Given the description of an element on the screen output the (x, y) to click on. 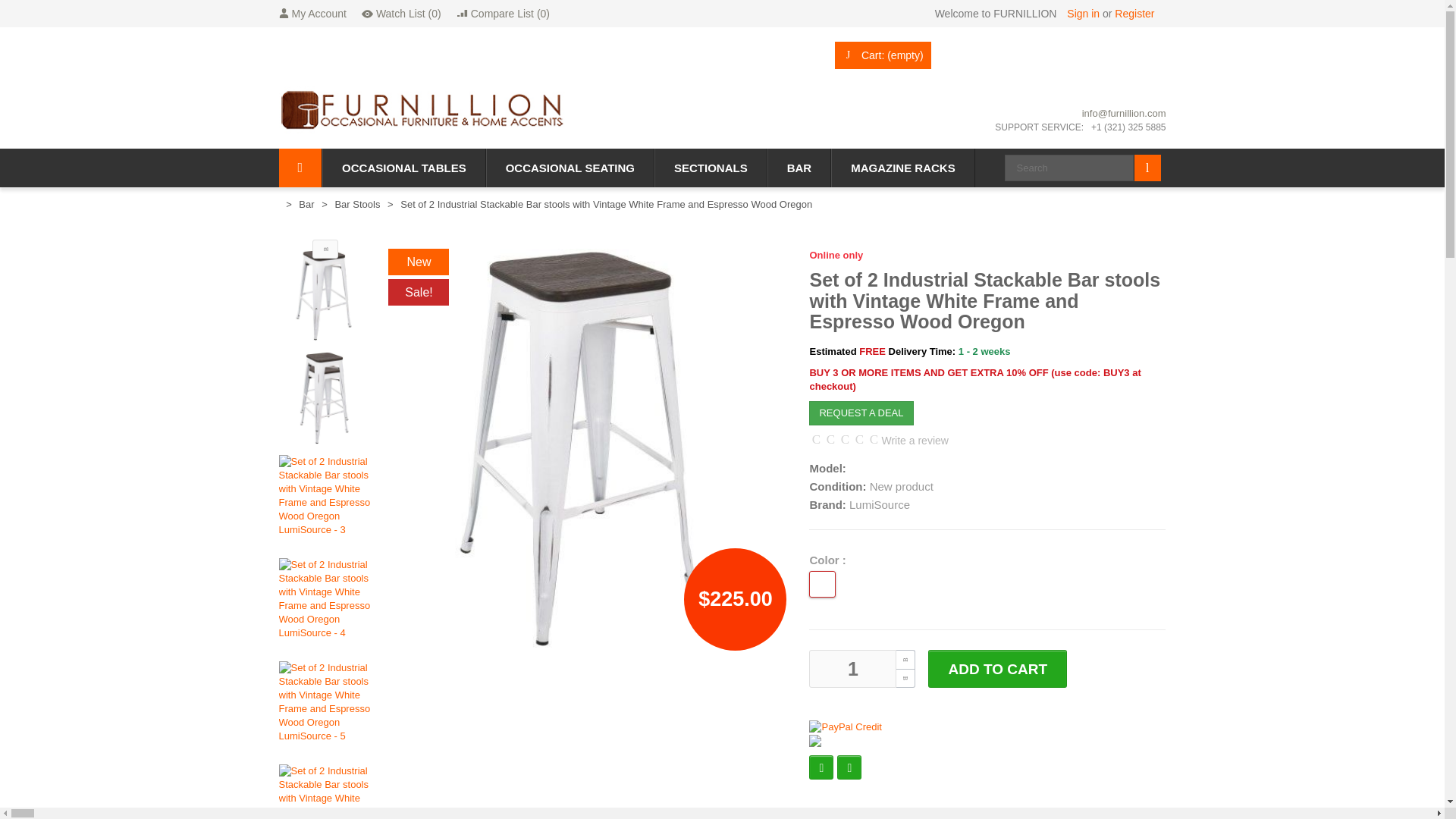
BAR (799, 167)
View my shopping cart (882, 54)
1 (852, 668)
My Account (312, 13)
Bar (306, 204)
SECTIONALS (711, 167)
OCCASIONAL SEATING (569, 167)
PREVIOUS (326, 248)
Register account in our store (1134, 13)
